Given the description of an element on the screen output the (x, y) to click on. 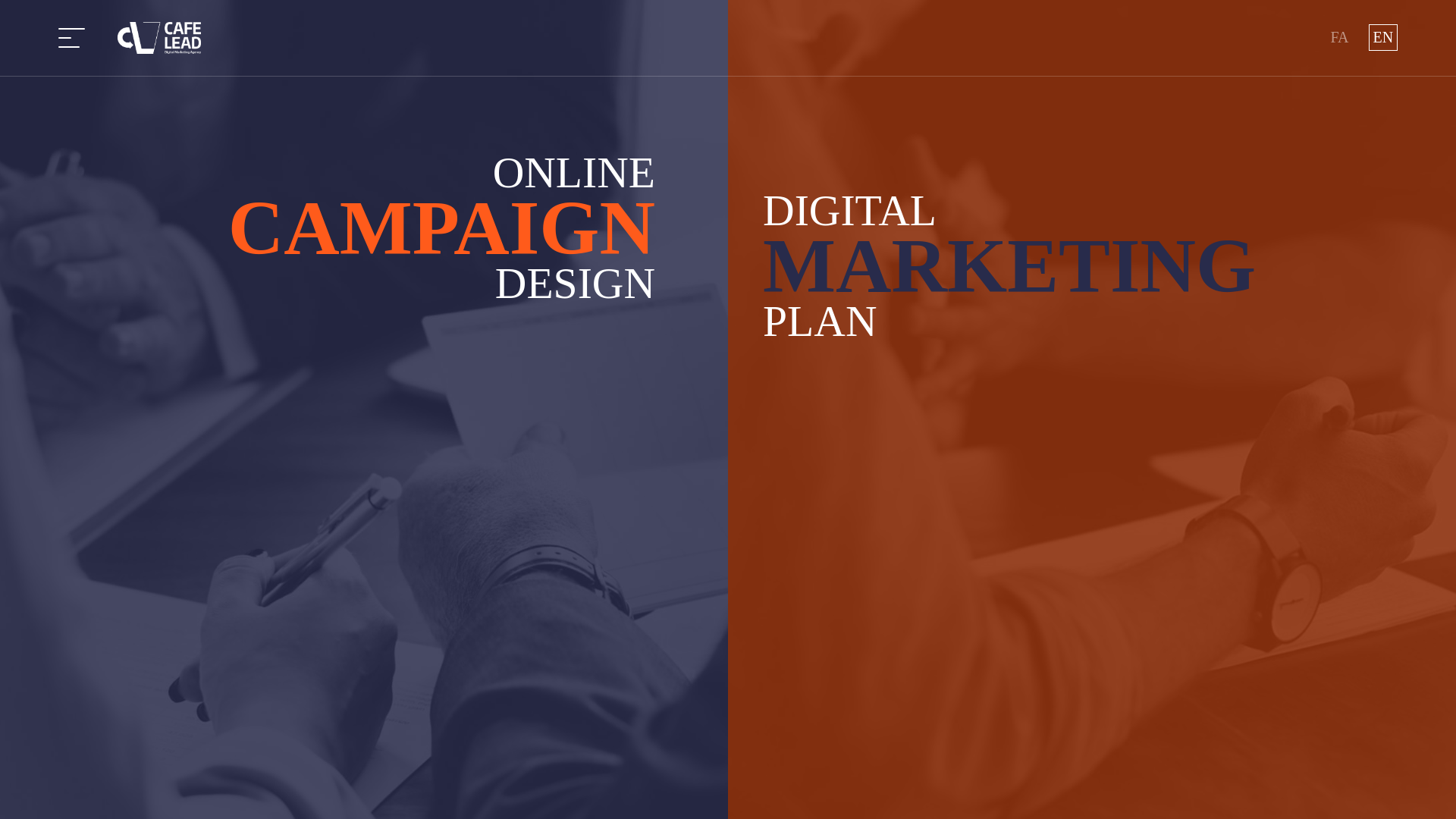
FA (1338, 37)
EN (1382, 37)
